Given the description of an element on the screen output the (x, y) to click on. 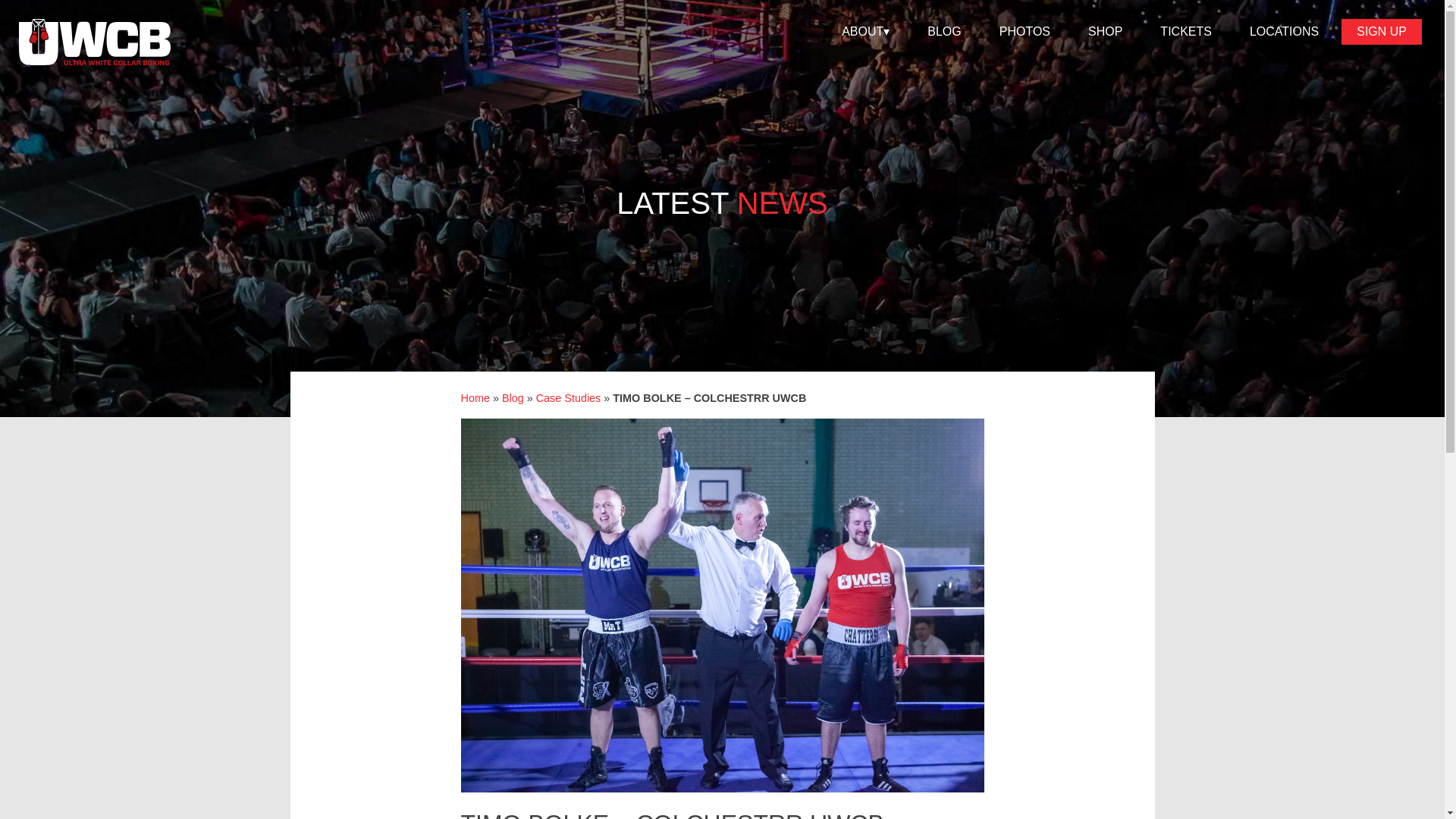
PHOTOS (1023, 31)
Case Studies (568, 398)
LOCATIONS (1284, 31)
ABOUT (865, 31)
Home (475, 398)
Blog (513, 398)
SHOP (1104, 31)
SIGN UP (1381, 31)
TICKETS (1185, 31)
BLOG (943, 31)
